Given the description of an element on the screen output the (x, y) to click on. 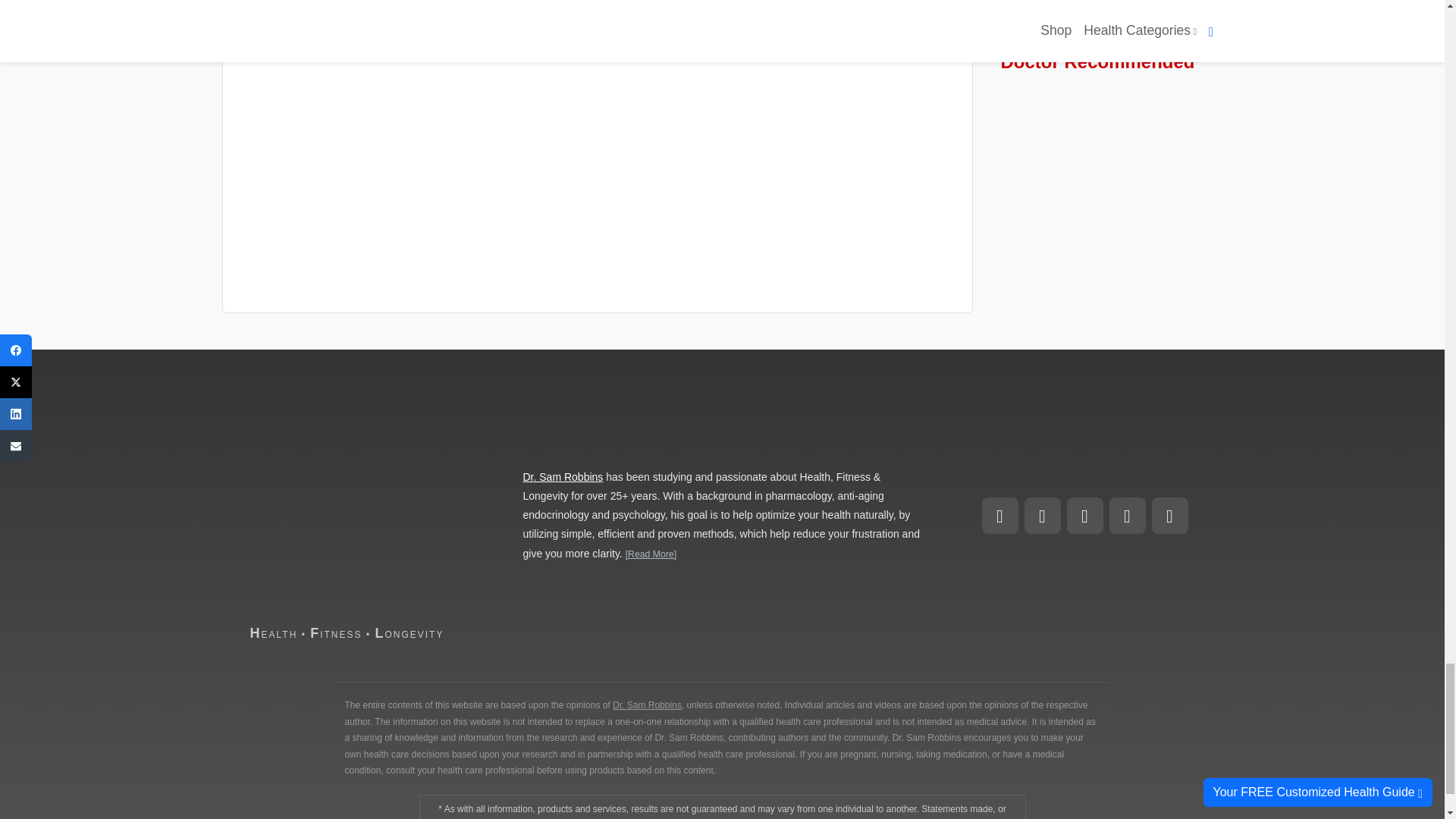
Linkedin (1083, 515)
Instagram (1041, 515)
Youtube (1169, 515)
Facebook (999, 515)
Twitter (1126, 515)
